Given the description of an element on the screen output the (x, y) to click on. 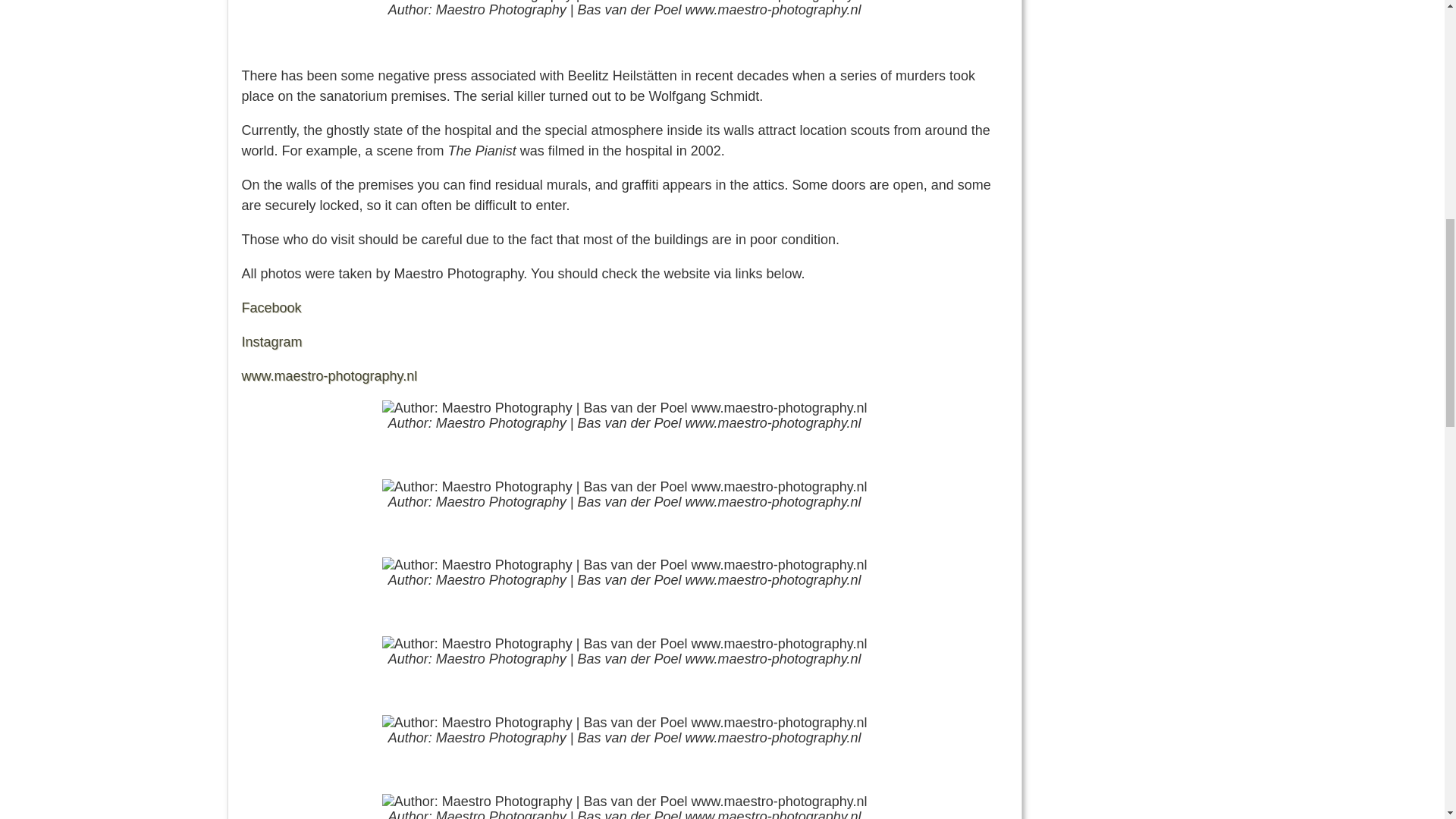
www.maestro-photography.nl (328, 376)
Facebook (271, 307)
Instagram (271, 341)
